Given the description of an element on the screen output the (x, y) to click on. 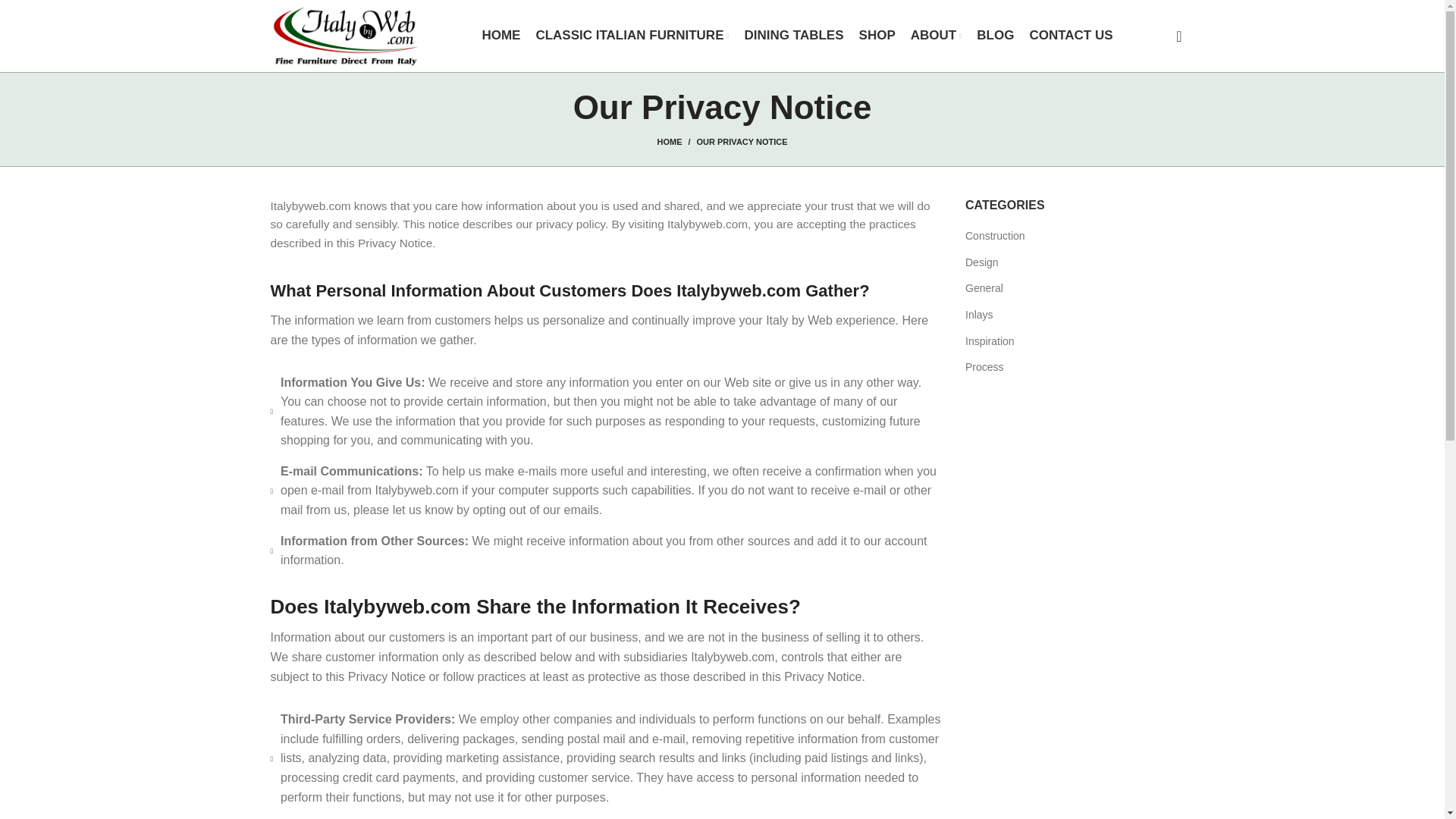
Inlays (979, 314)
Search (1173, 36)
CLASSIC ITALIAN FURNITURE (632, 36)
HOME (500, 36)
General (984, 288)
Design (982, 263)
DINING TABLES (794, 36)
BLOG (994, 36)
Construction (995, 236)
SHOP (877, 36)
ABOUT (936, 36)
CONTACT US (1070, 36)
HOME (675, 141)
